Given the description of an element on the screen output the (x, y) to click on. 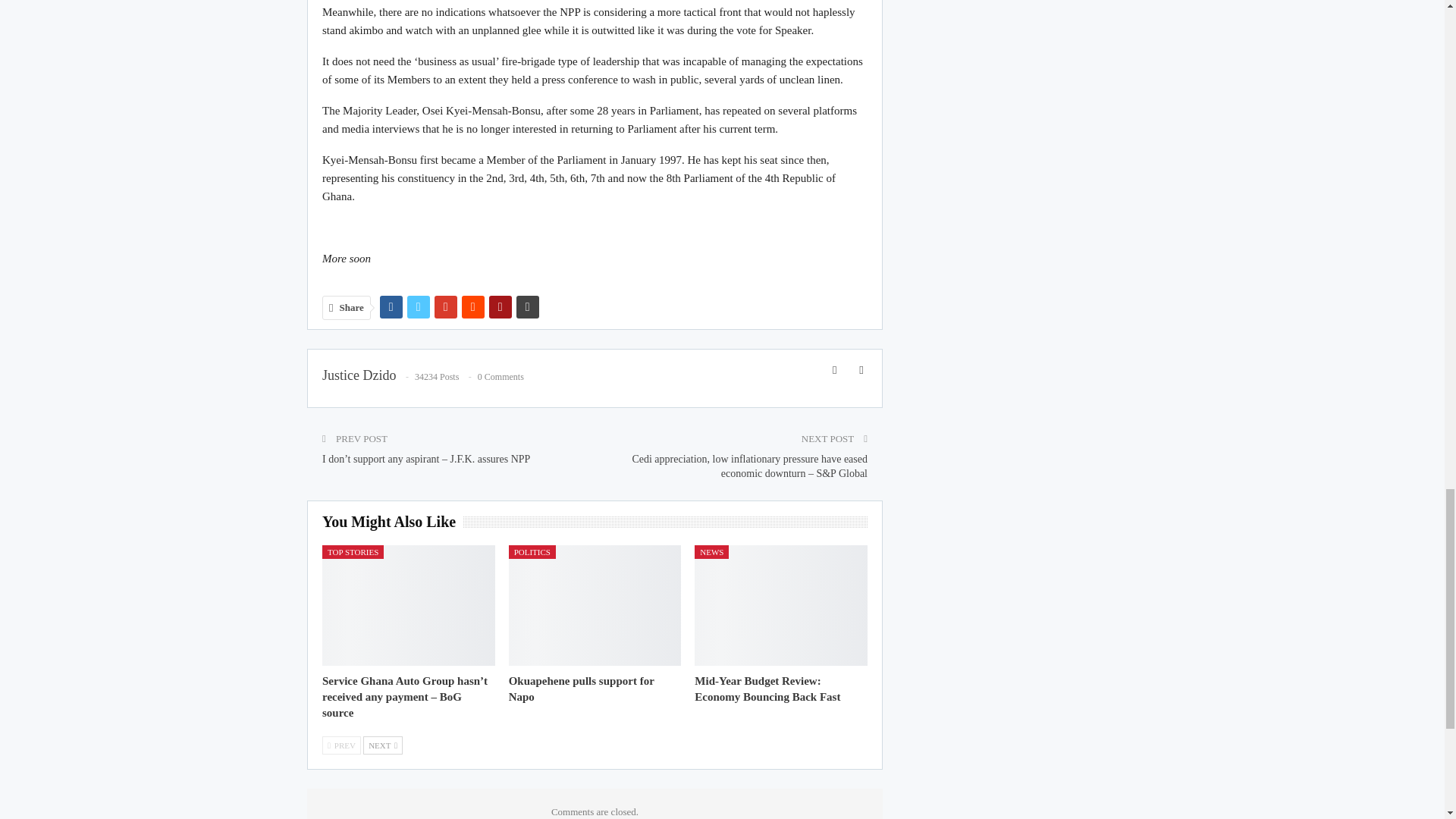
Mid-Year Budget Review: Economy Bouncing Back Fast (767, 688)
Okuapehene pulls support for Napo (594, 605)
Justice Dzido (358, 375)
Next (382, 745)
Mid-Year Budget Review: Economy Bouncing Back Fast (780, 605)
Previous (341, 745)
Okuapehene pulls support for Napo (580, 688)
